Given the description of an element on the screen output the (x, y) to click on. 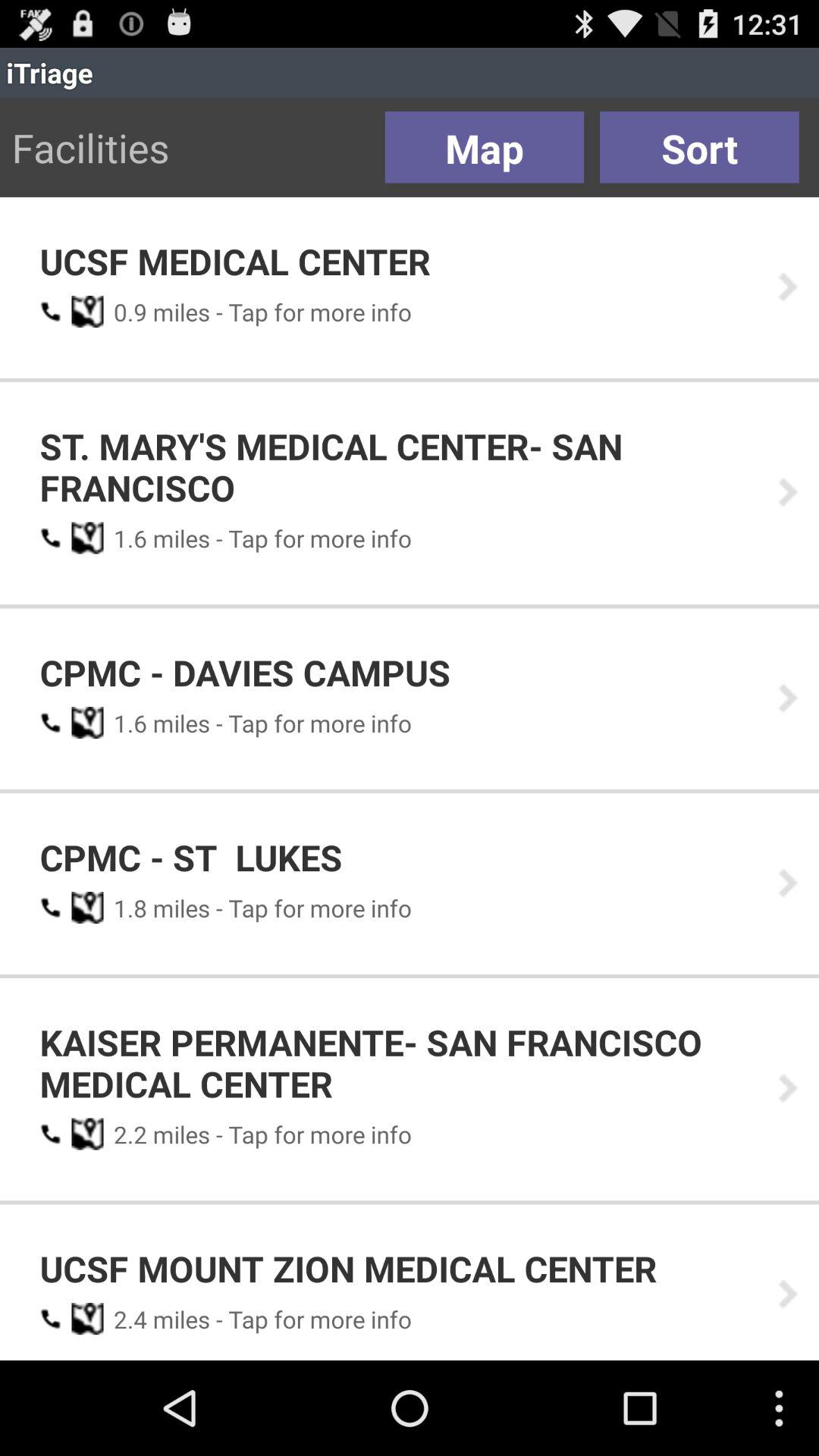
launch item next to the map (699, 147)
